Given the description of an element on the screen output the (x, y) to click on. 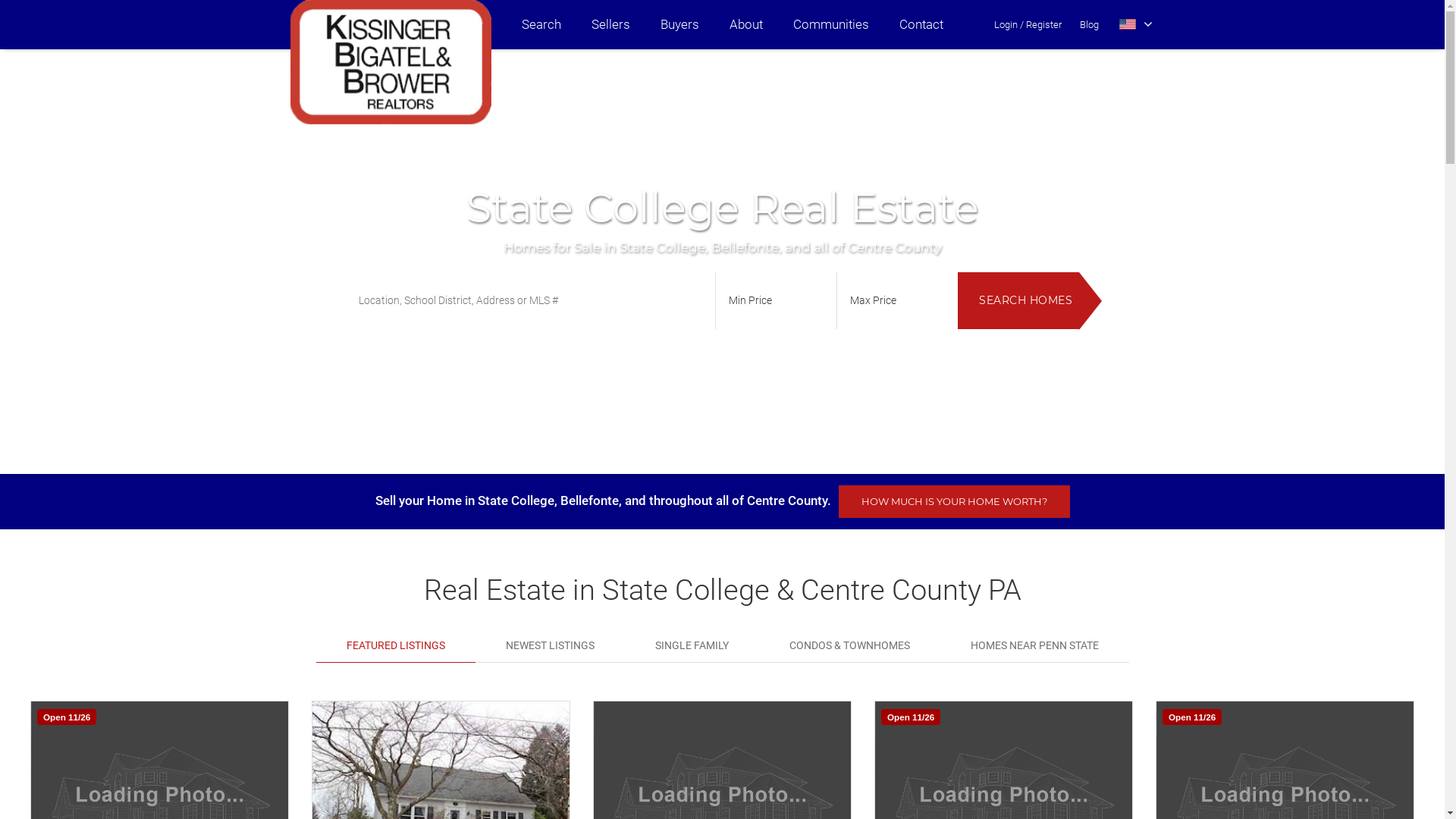
HOW MUCH IS YOUR HOME WORTH? Element type: text (954, 501)
Communities Element type: text (831, 24)
Select Language Element type: hover (1135, 24)
Contact Element type: text (921, 24)
Buyers Element type: text (678, 24)
Search Element type: text (541, 24)
Blog Element type: text (1088, 24)
Register Element type: text (1042, 24)
About Element type: text (746, 24)
Enter Location, School District, Address or MLS # Element type: hover (528, 300)
SEARCH HOMES Element type: text (1017, 300)
Login/ Element type: text (1009, 24)
Sellers Element type: text (610, 24)
